Given the description of an element on the screen output the (x, y) to click on. 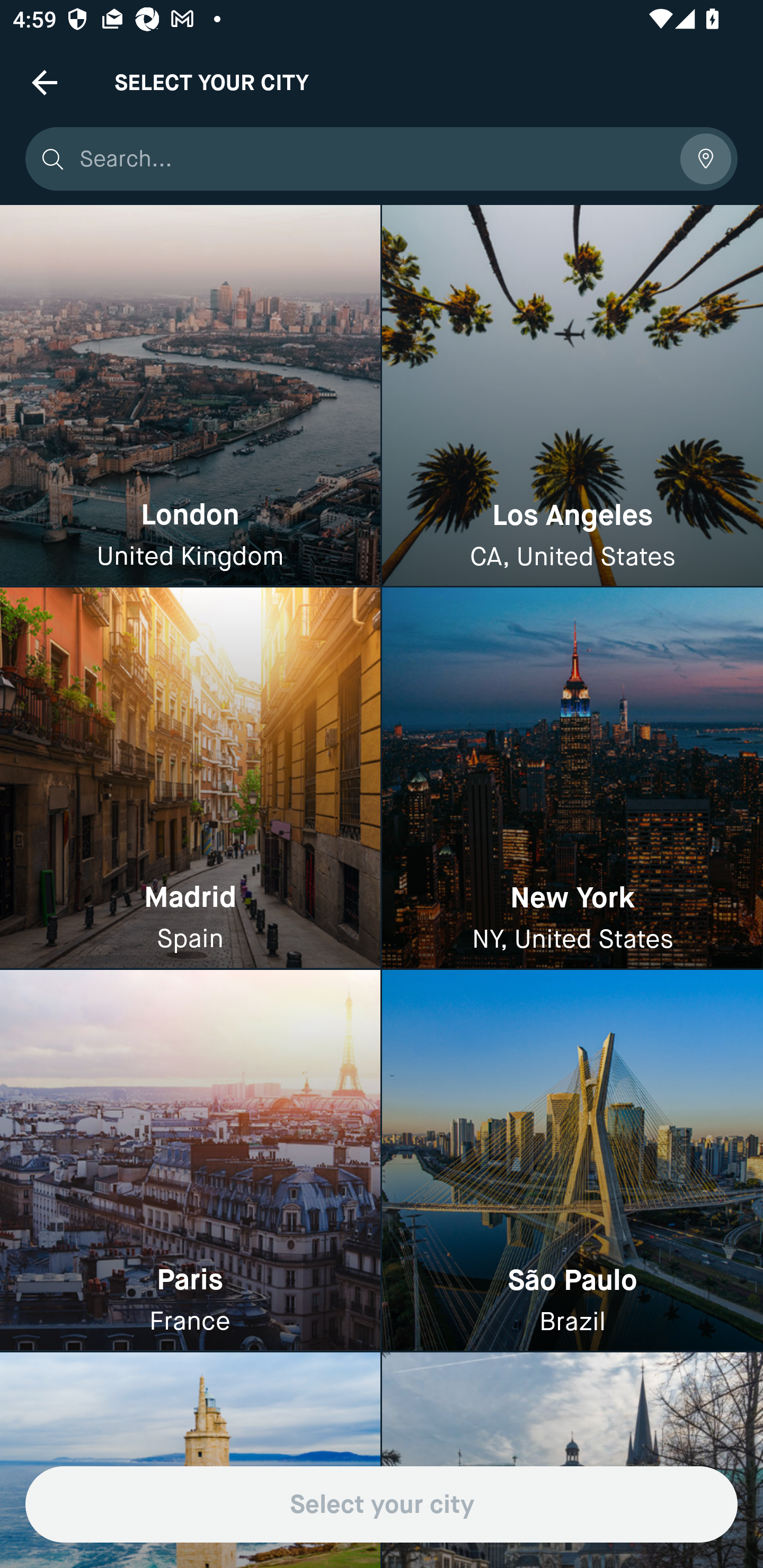
Navigate up (44, 82)
Search... (373, 159)
London United Kingdom (190, 395)
Los Angeles CA, United States (572, 395)
Madrid Spain (190, 778)
New York NY, United States (572, 778)
Paris France (190, 1160)
São Paulo Brazil (572, 1160)
Select your city (381, 1504)
